Given the description of an element on the screen output the (x, y) to click on. 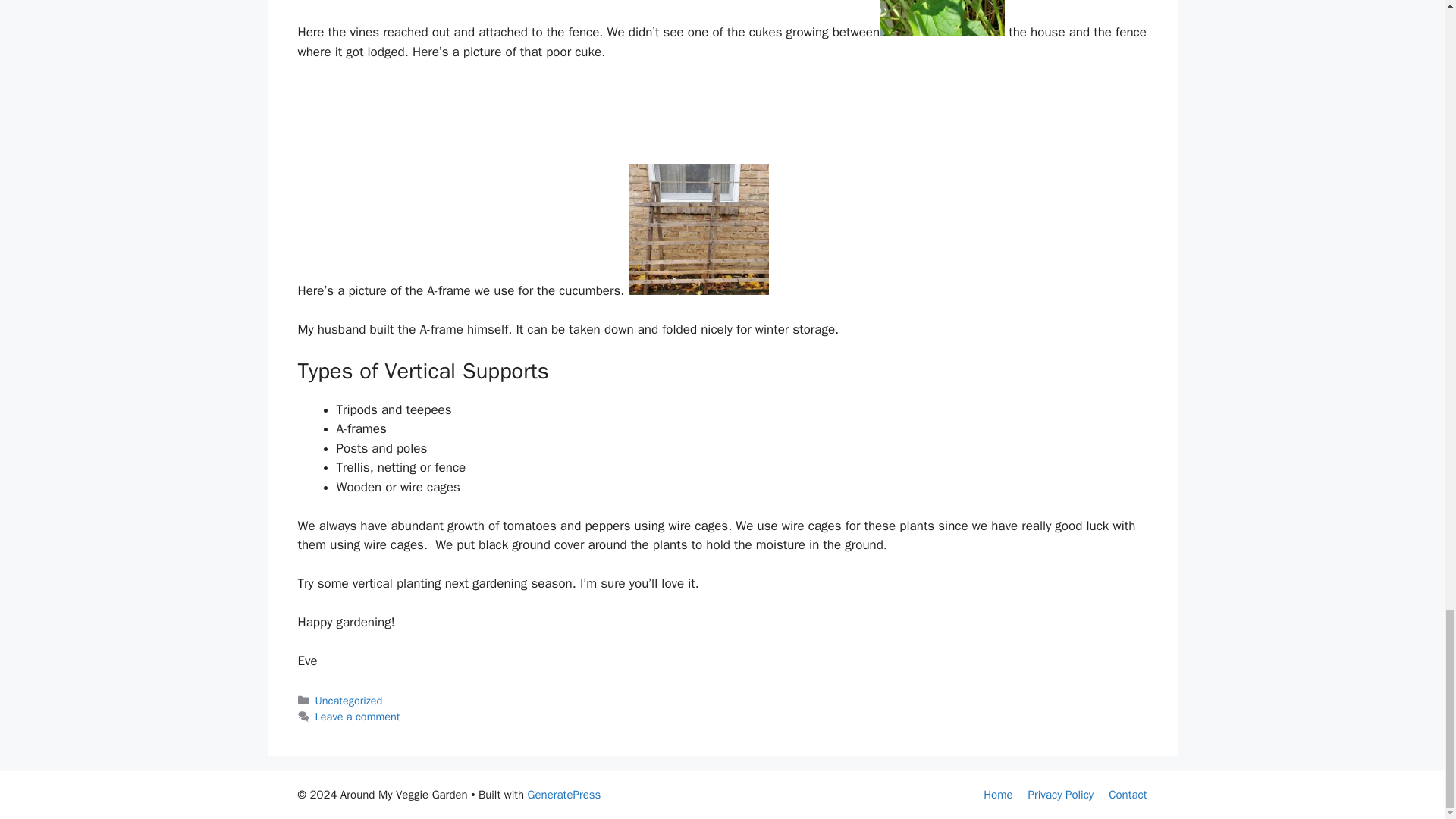
Contact Around My Veggie Garden (1127, 794)
Privacy Policy (1060, 794)
Uncategorized (348, 700)
Home (997, 794)
Contact (1127, 794)
Around My Veggie Garden Privacy Policy (1060, 794)
Leave a comment (357, 716)
Around My Veggie Garden (997, 794)
GeneratePress (564, 794)
